Given the description of an element on the screen output the (x, y) to click on. 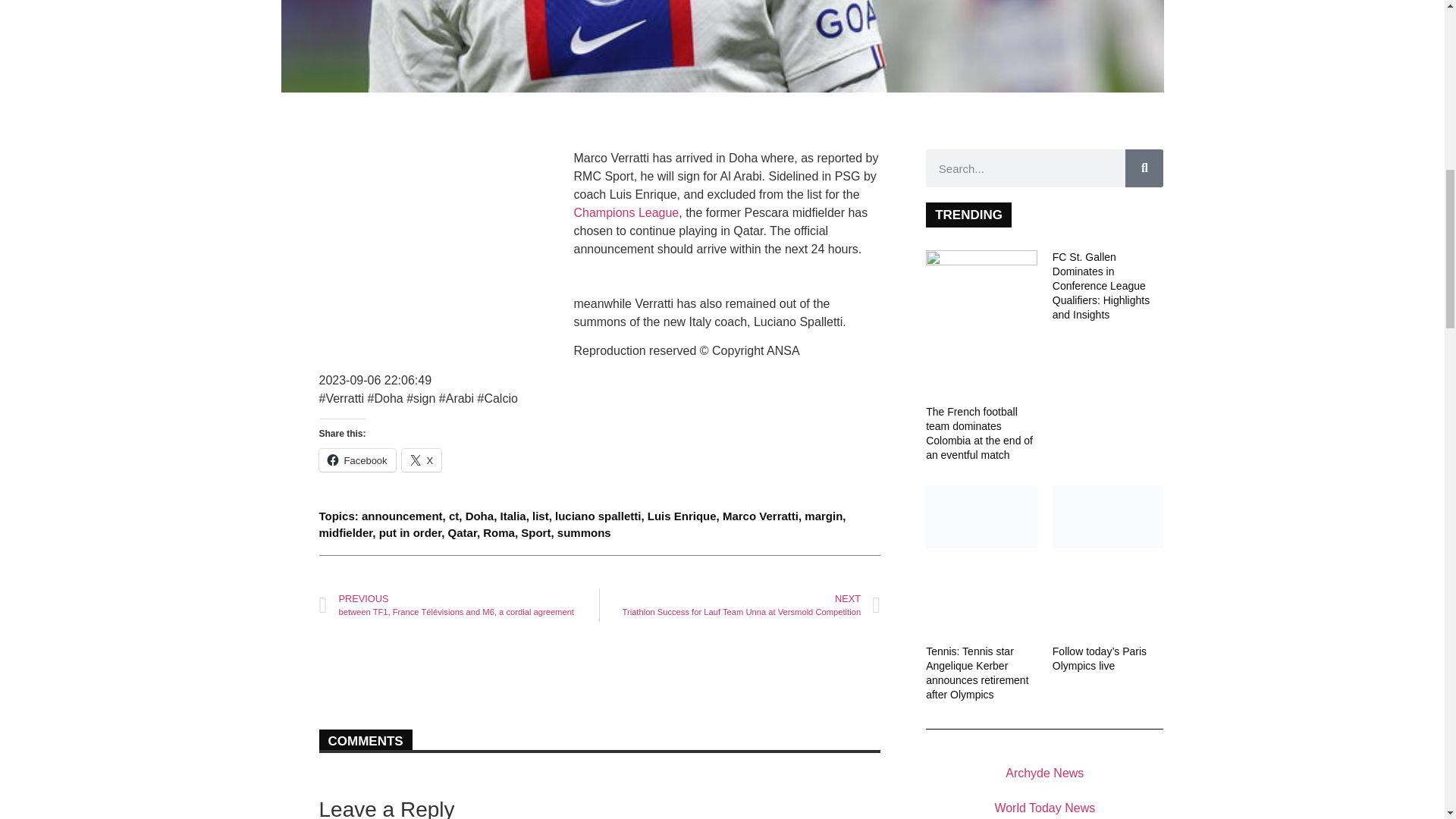
Click to share on X (421, 459)
Click to share on Facebook (356, 459)
